Given the description of an element on the screen output the (x, y) to click on. 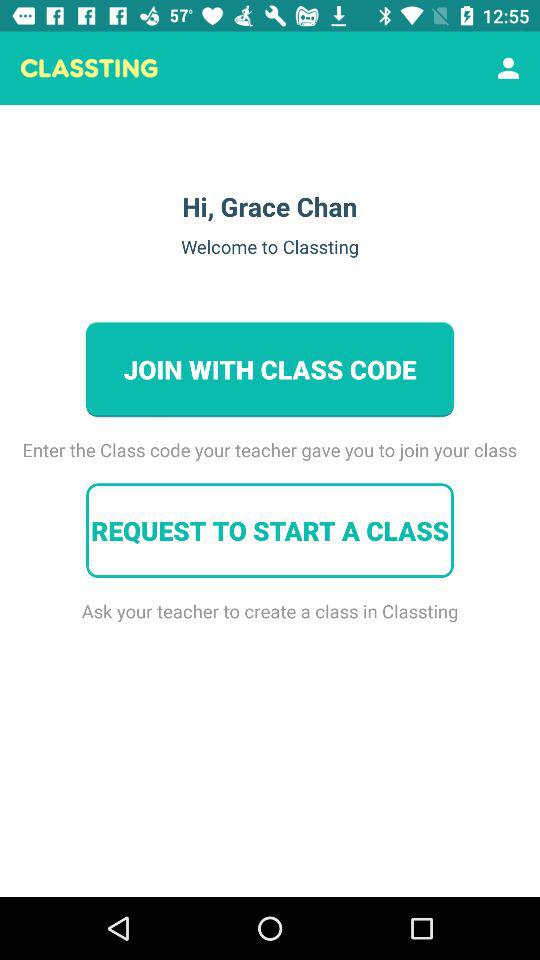
turn off the icon above the enter the class icon (508, 67)
